Given the description of an element on the screen output the (x, y) to click on. 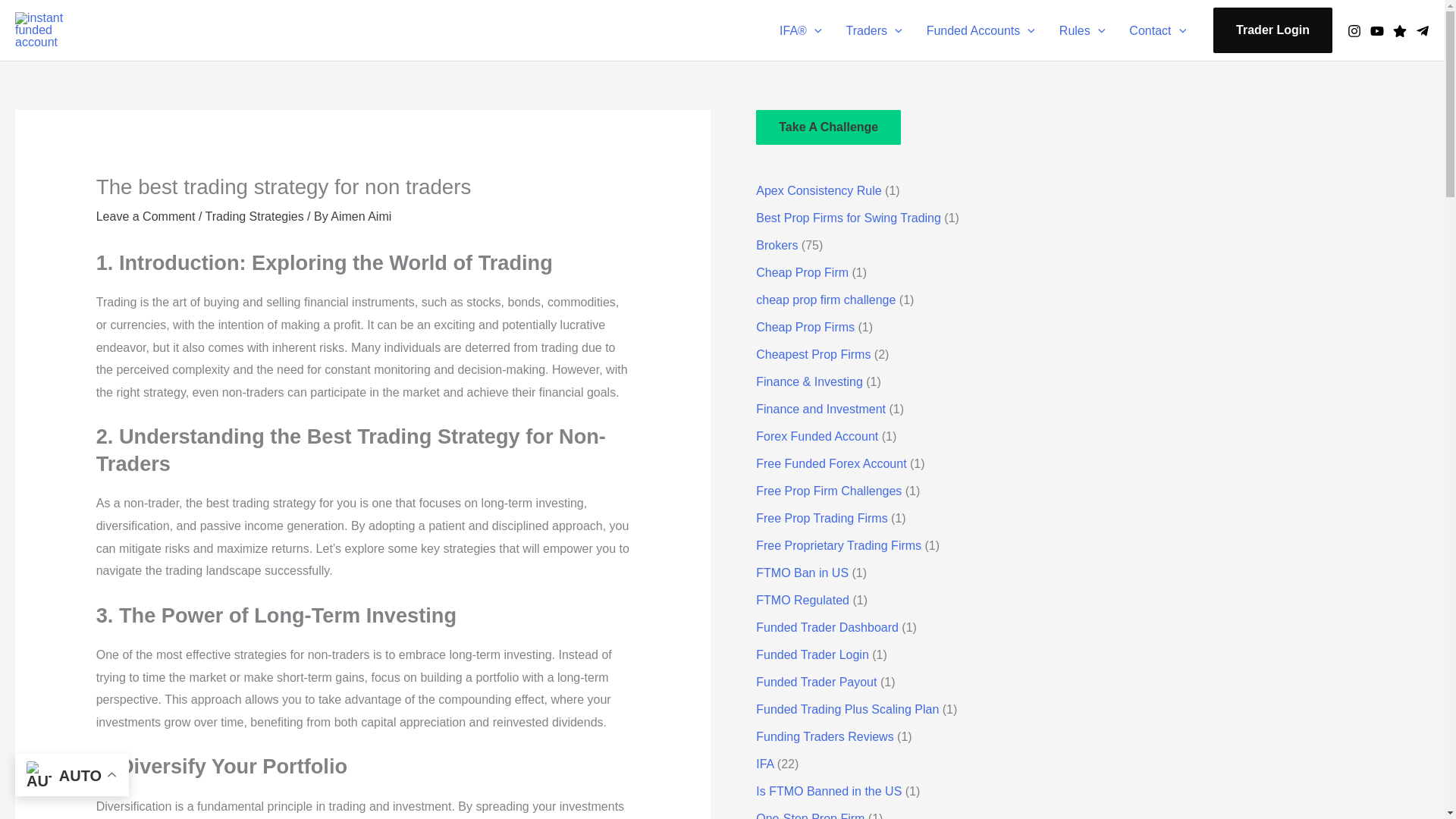
Traders (874, 30)
Rules (1082, 30)
Contact (1157, 30)
Trader Login (1272, 30)
View all posts by Aimen Aimi (360, 215)
Funded Accounts (980, 30)
